Given the description of an element on the screen output the (x, y) to click on. 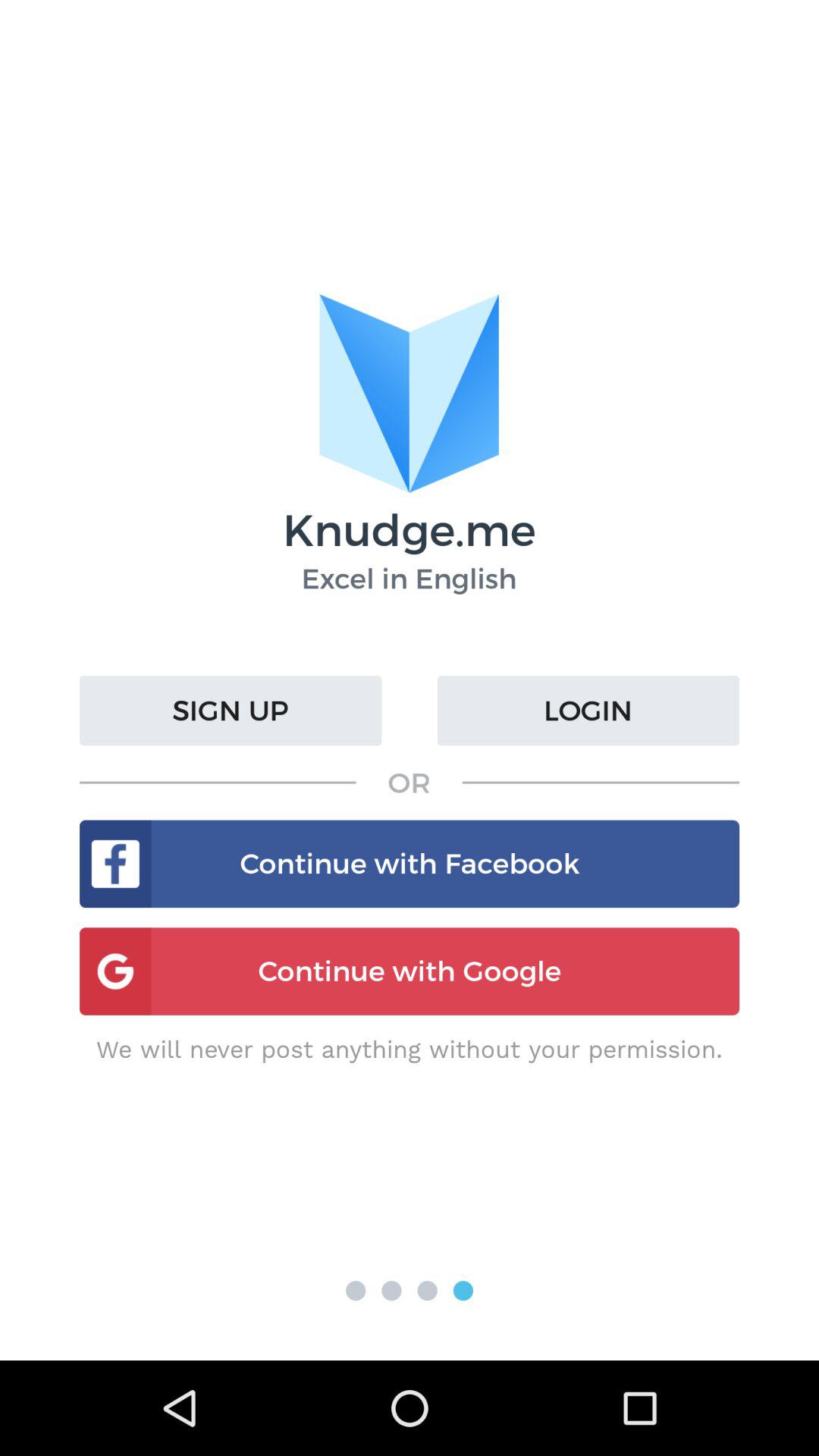
turn on the icon above or icon (588, 710)
